Given the description of an element on the screen output the (x, y) to click on. 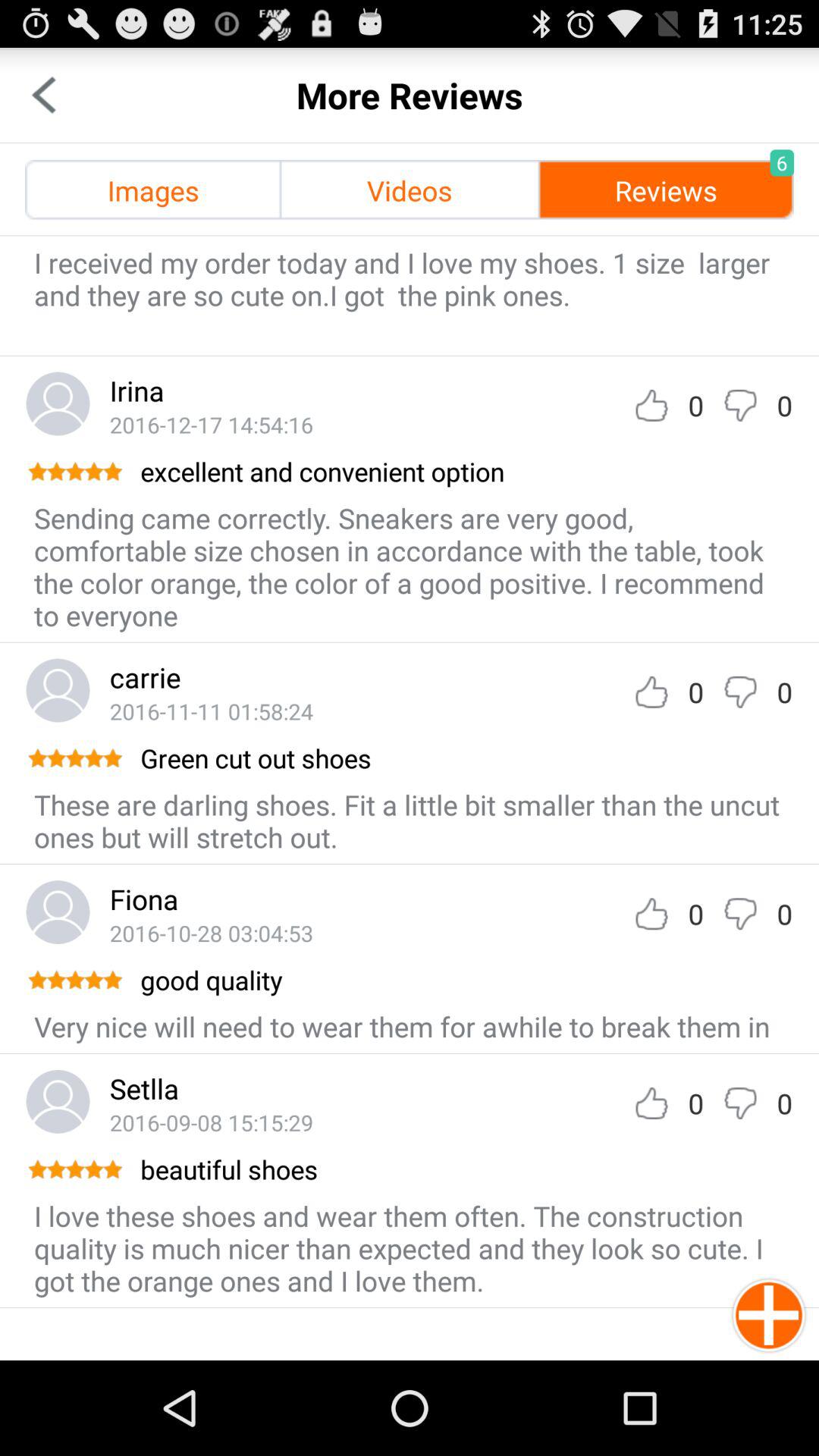
likebutton (651, 405)
